Given the description of an element on the screen output the (x, y) to click on. 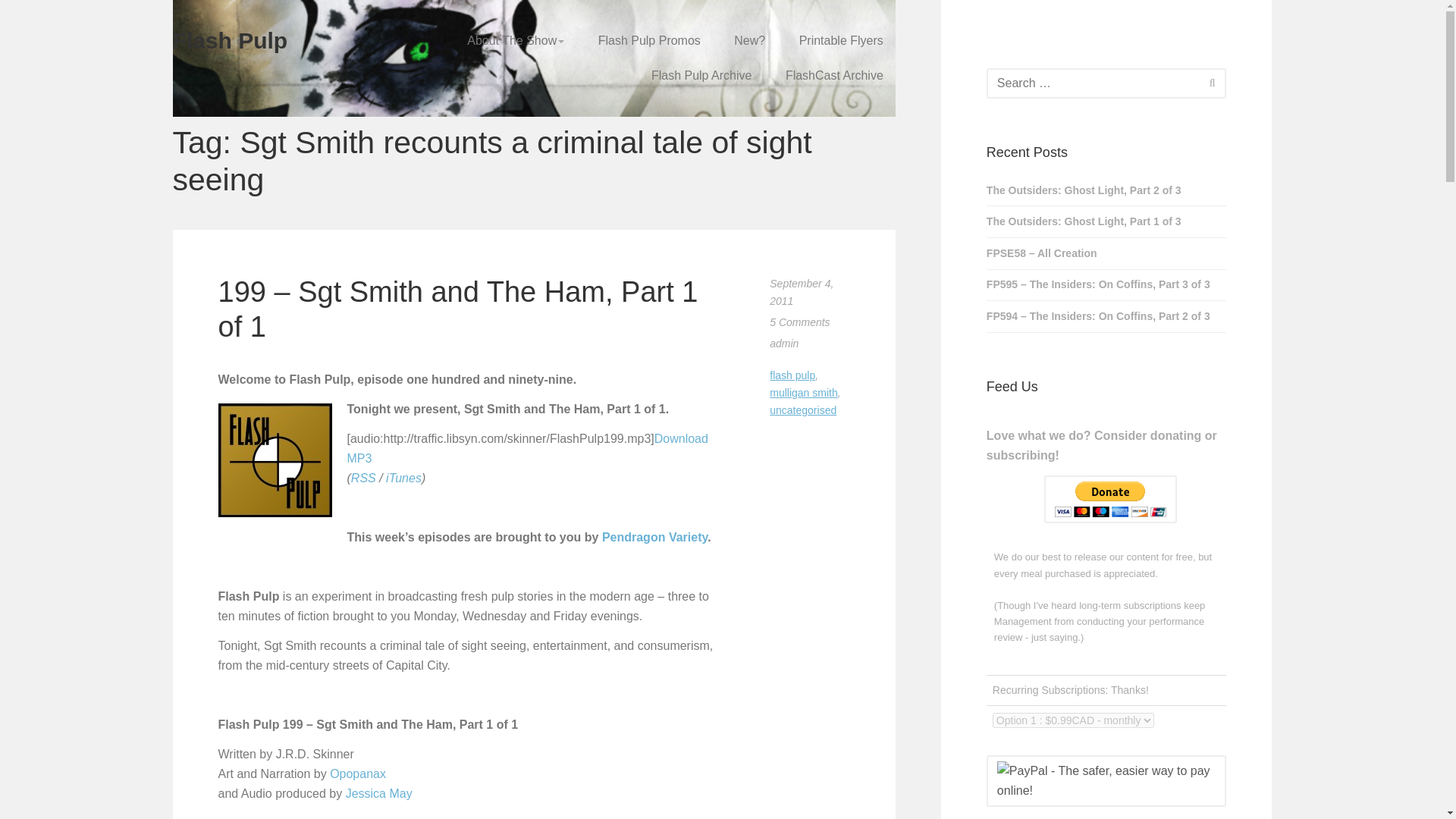
September 4, 2011 (801, 292)
Flash Pulp (274, 459)
New? (749, 40)
Flash Pulp Promos (648, 40)
The Outsiders: Ghost Light, Part 1 of 3 (1107, 221)
FlashCast Archive (834, 75)
Printable Flyers (841, 40)
Flash Pulp (230, 40)
Pendragon Variety (654, 536)
5 Comments (799, 322)
RSS (362, 477)
Flash Pulp Archive (701, 75)
Search (1211, 81)
Opopanax (357, 773)
Download MP3 (527, 448)
